Given the description of an element on the screen output the (x, y) to click on. 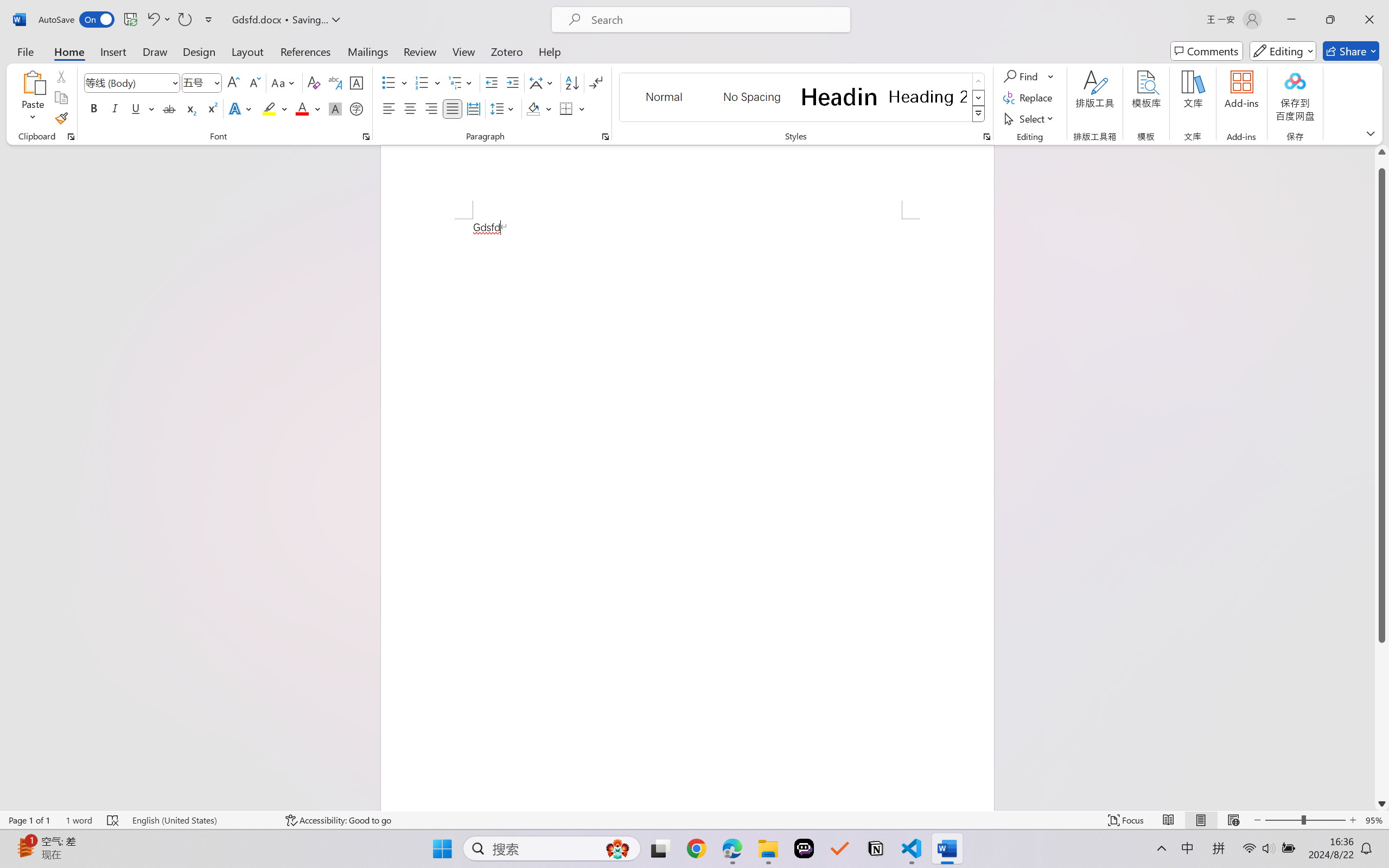
Row up (978, 81)
Text Effects and Typography (241, 108)
Show/Hide Editing Marks (595, 82)
Styles (978, 113)
Line and Paragraph Spacing (503, 108)
Grow Font (233, 82)
